Given the description of an element on the screen output the (x, y) to click on. 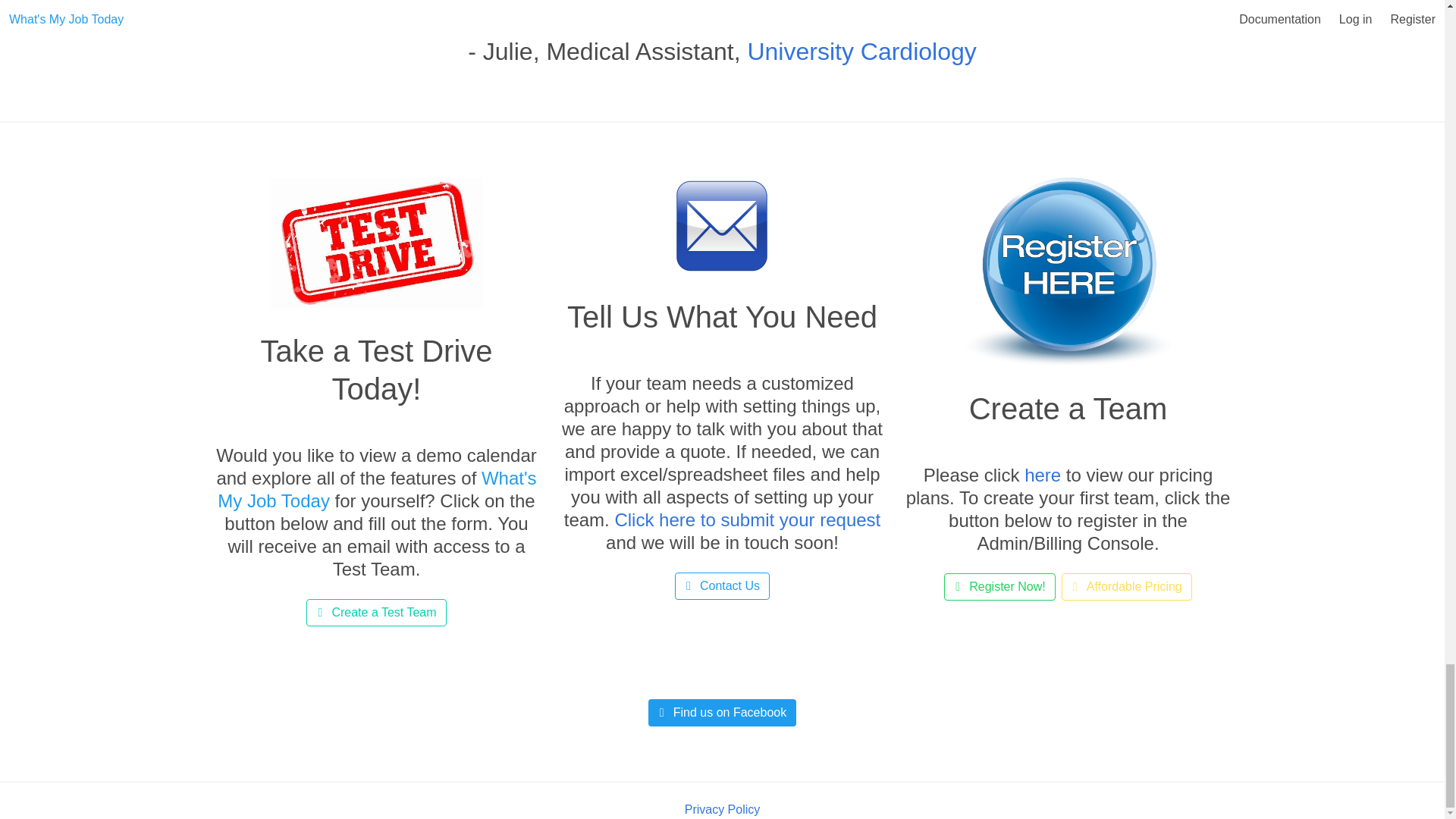
Find us on Facebook (721, 712)
University Cardiology (860, 51)
Register Now! (998, 586)
Affordable Pricing (1126, 586)
Contact Us (722, 585)
here (1043, 475)
Create a Test Team (375, 612)
Click here to submit your request (747, 519)
